Given the description of an element on the screen output the (x, y) to click on. 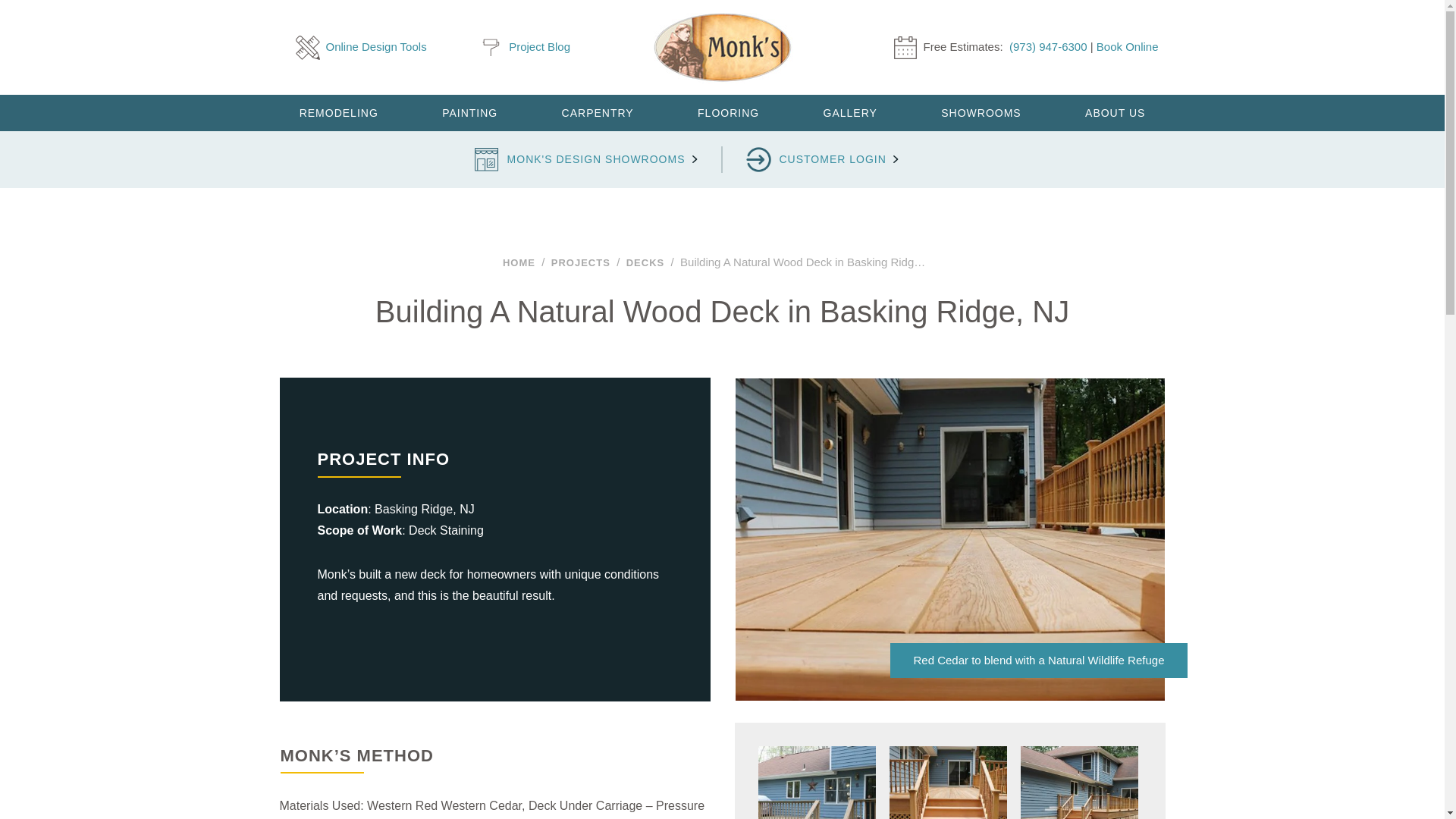
FLOORING (727, 113)
Online Design Tools (360, 46)
REMODELING (337, 113)
Book Online (1127, 46)
SHOWROOMS (980, 113)
GALLERY (849, 113)
CARPENTRY (597, 113)
PAINTING (469, 113)
Project Blog (524, 46)
